Given the description of an element on the screen output the (x, y) to click on. 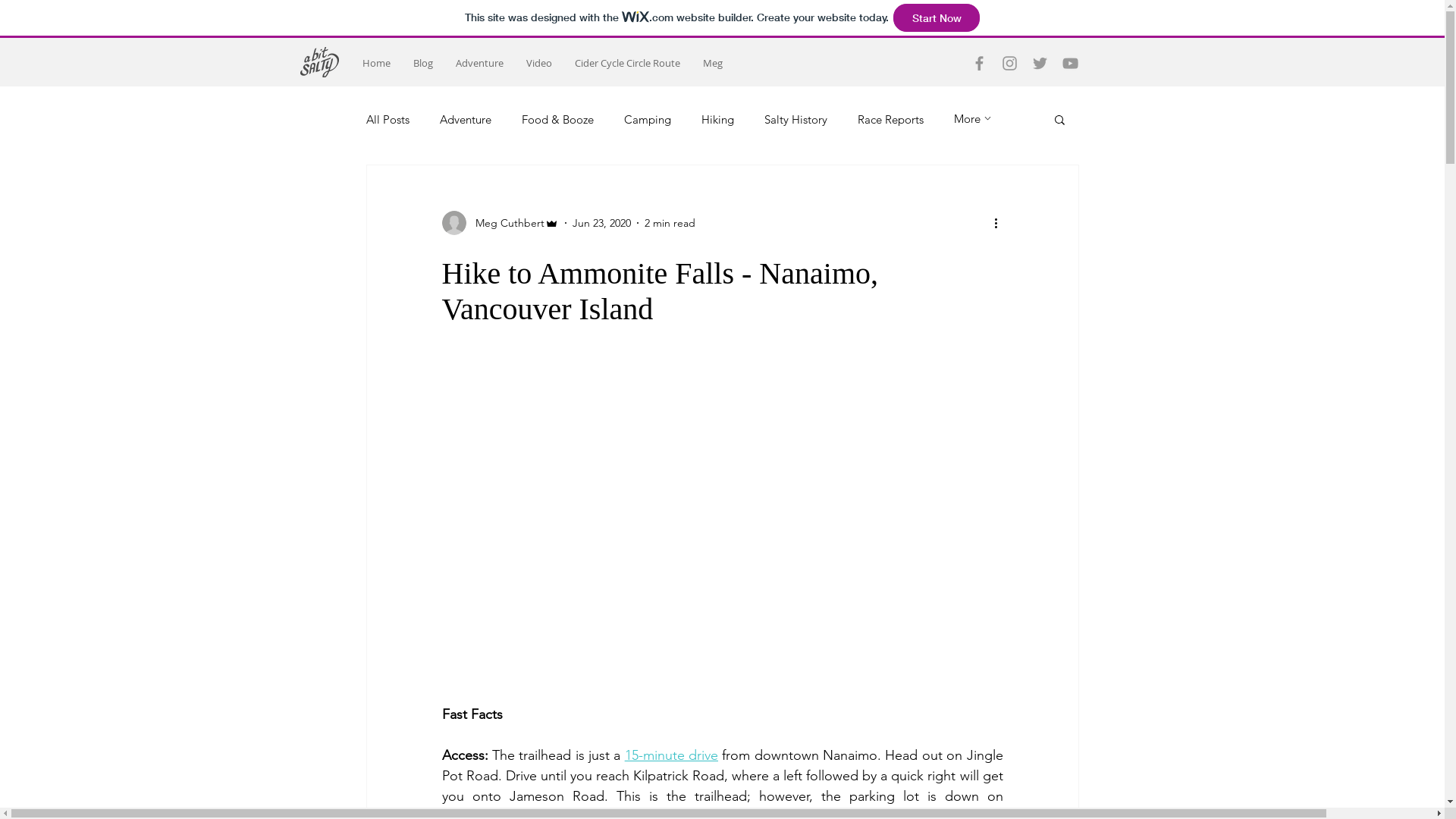
Adventure Element type: text (479, 63)
Adventure Element type: text (465, 119)
Blog Element type: text (422, 63)
Race Reports Element type: text (889, 119)
Camping Element type: text (646, 119)
Home Element type: text (375, 63)
Salty History Element type: text (795, 119)
Meg Element type: text (712, 63)
All Posts Element type: text (386, 119)
Video Element type: text (538, 63)
Hiking Element type: text (716, 119)
Food & Booze Element type: text (557, 119)
Cider Cycle Circle Route Element type: text (626, 63)
15-minute drive Element type: text (671, 754)
